Given the description of an element on the screen output the (x, y) to click on. 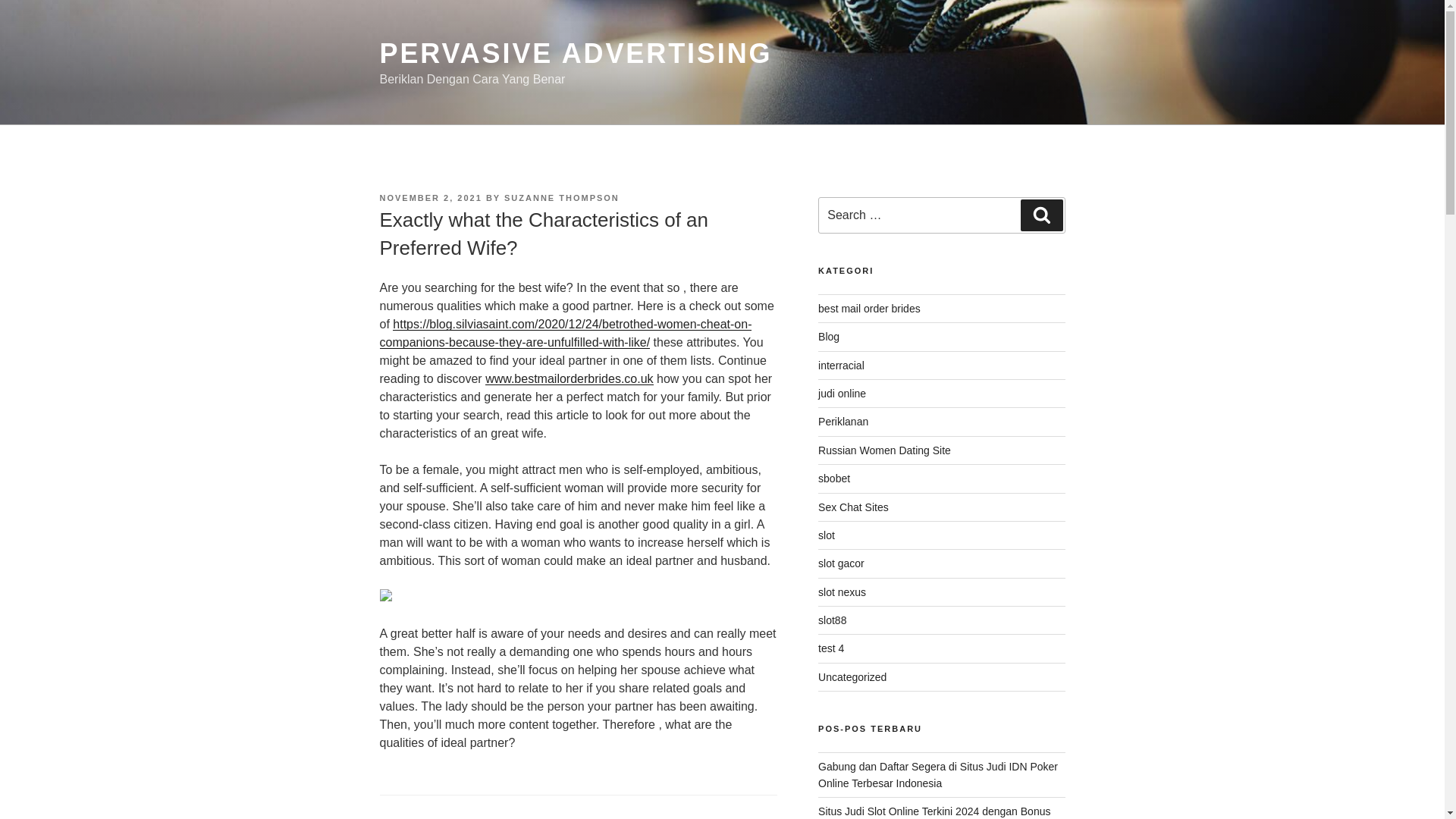
slot nexus (842, 592)
slot (826, 535)
PERVASIVE ADVERTISING (574, 52)
Sex Chat Sites (853, 506)
slot gacor (841, 563)
Blog (829, 336)
www.bestmailorderbrides.co.uk (568, 378)
test 4 (831, 648)
